Given the description of an element on the screen output the (x, y) to click on. 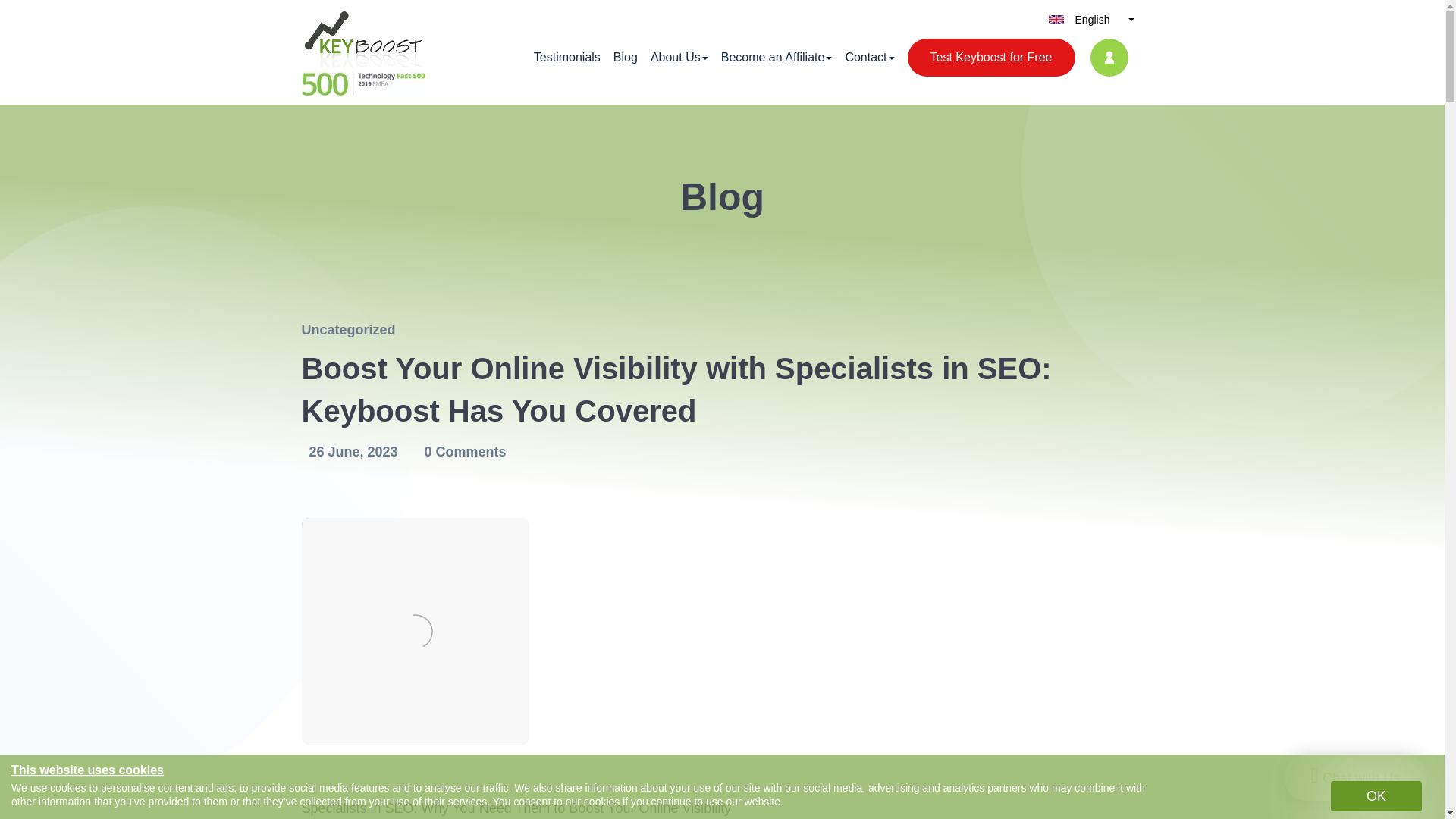
Testimonials (566, 57)
Test Keyboost for Free (991, 57)
Contact (868, 57)
0 Comments (461, 451)
English (1092, 19)
26 June, 2023 (351, 451)
Uncategorized (348, 329)
Become an Affiliate (776, 57)
About Us (678, 57)
SEO (399, 807)
